Given the description of an element on the screen output the (x, y) to click on. 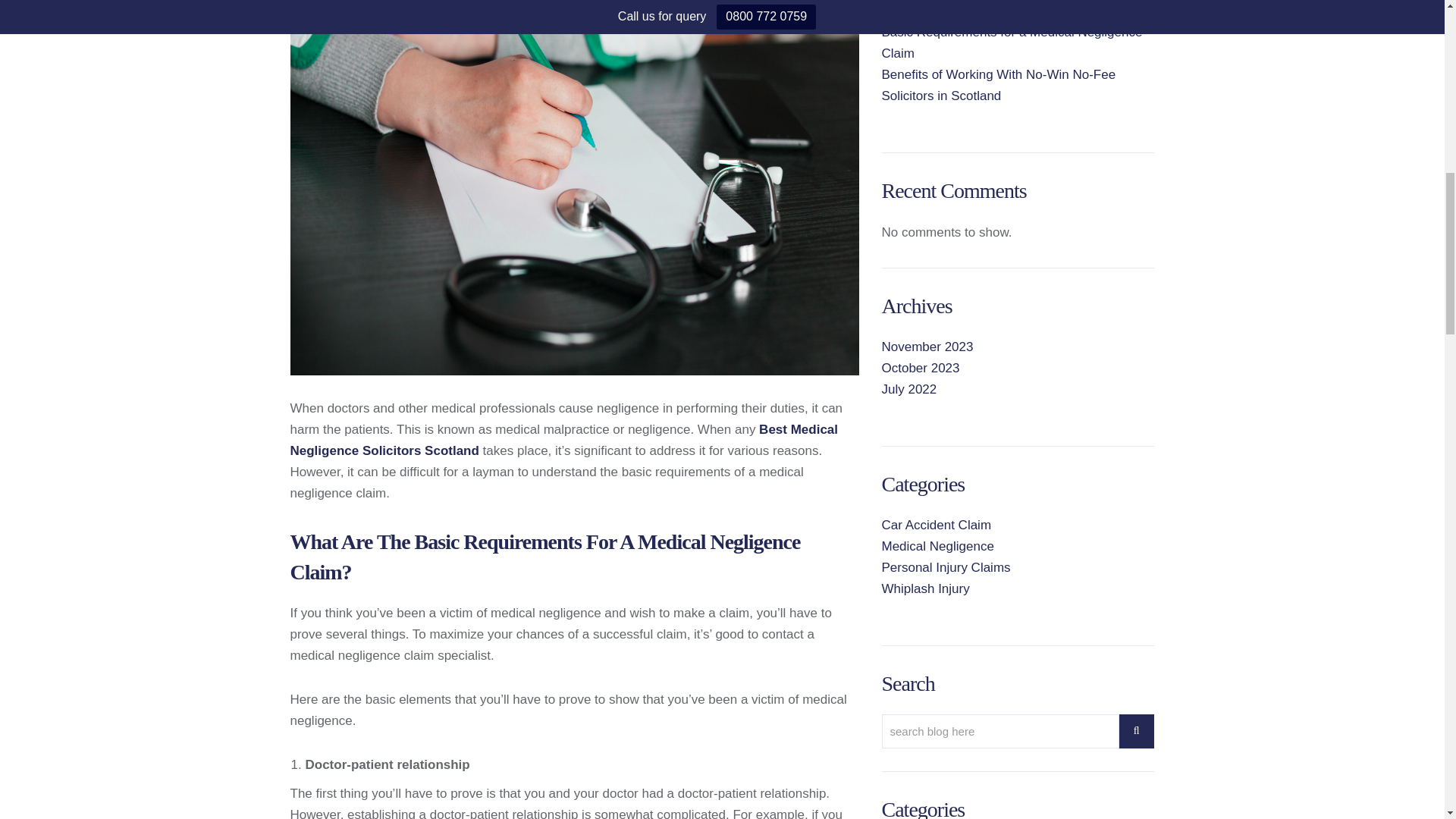
Best Medical Negligence Solicitors Scotland (563, 439)
Best Medical Negligence Solicitors Scotland (563, 439)
